Given the description of an element on the screen output the (x, y) to click on. 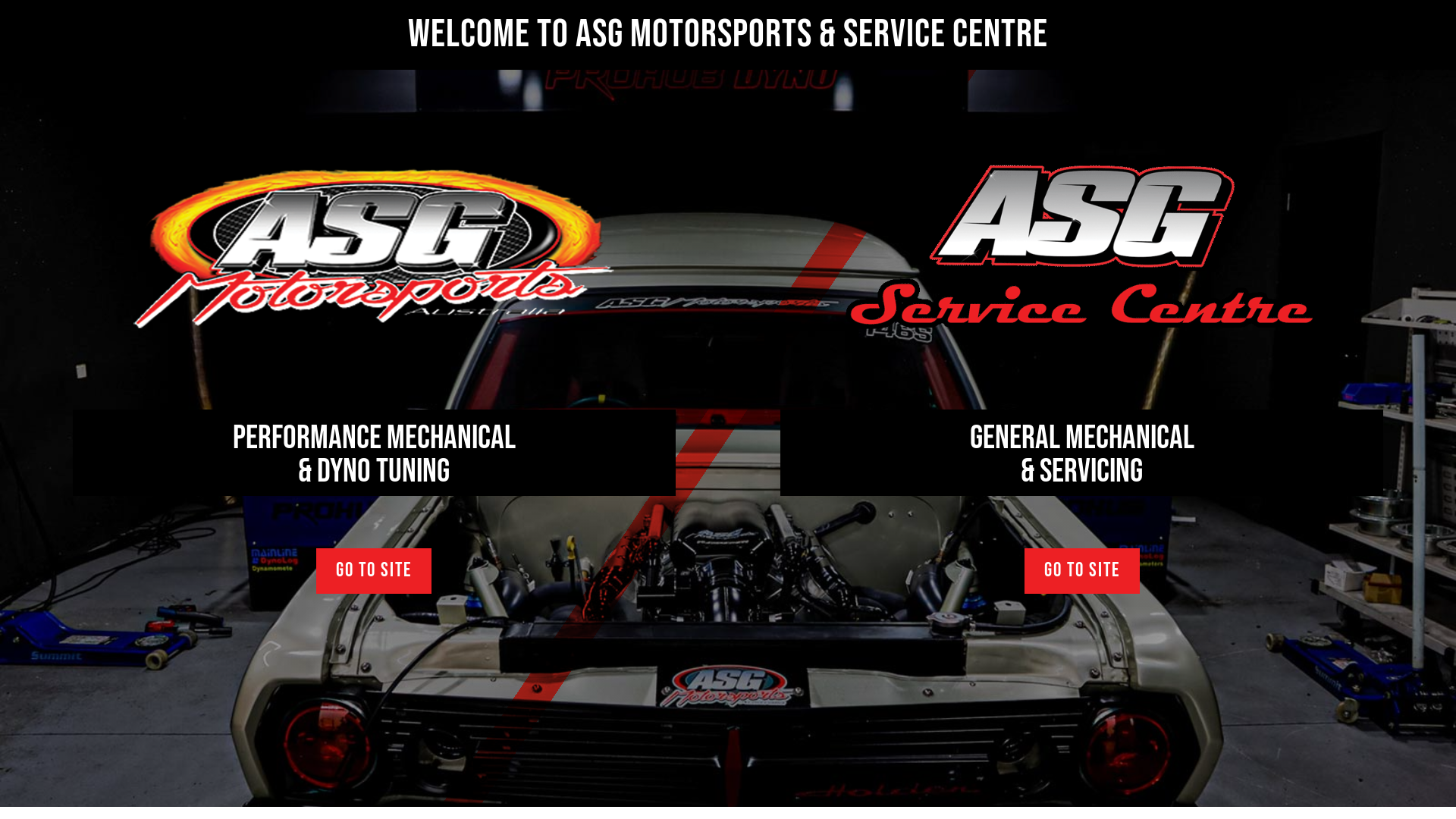
Go To Site Element type: text (1081, 570)
Go To Site Element type: text (373, 570)
ASG-Motorsports-Logo-flames Element type: hover (373, 242)
ASG-ServiceCentre-Logo-transparent Element type: hover (1081, 242)
